Given the description of an element on the screen output the (x, y) to click on. 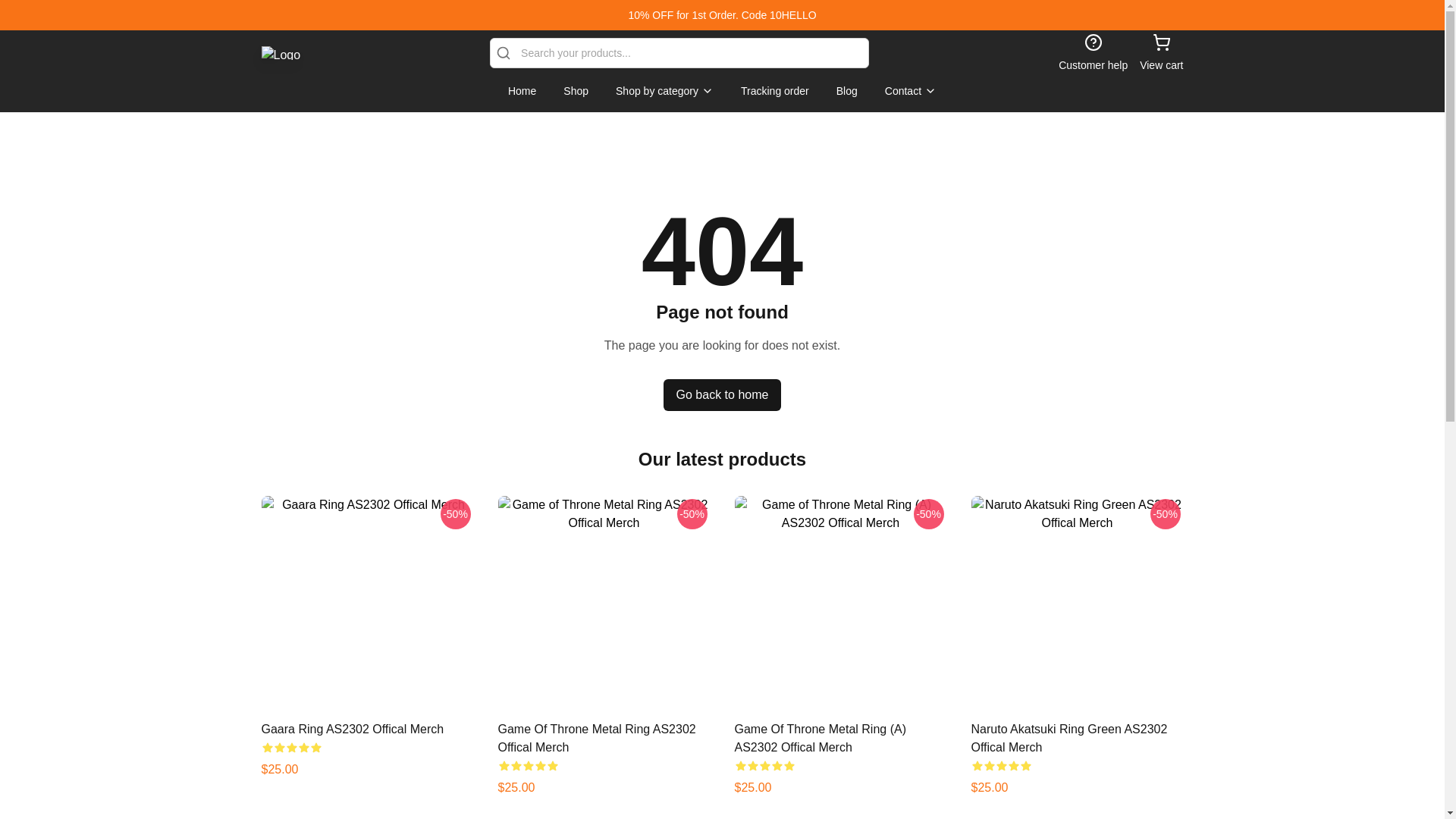
Shop by category (664, 91)
Shop (575, 91)
Game Of Throne Metal Ring AS2302 Offical Merch (596, 737)
customer help (1092, 52)
Anime Ring Shop - Official Anime Ring Store (279, 52)
Gaara Ring AS2302 Offical Merch (352, 728)
Blog (846, 91)
Customer help (1092, 52)
Home (522, 91)
Go back to home (722, 395)
